Given the description of an element on the screen output the (x, y) to click on. 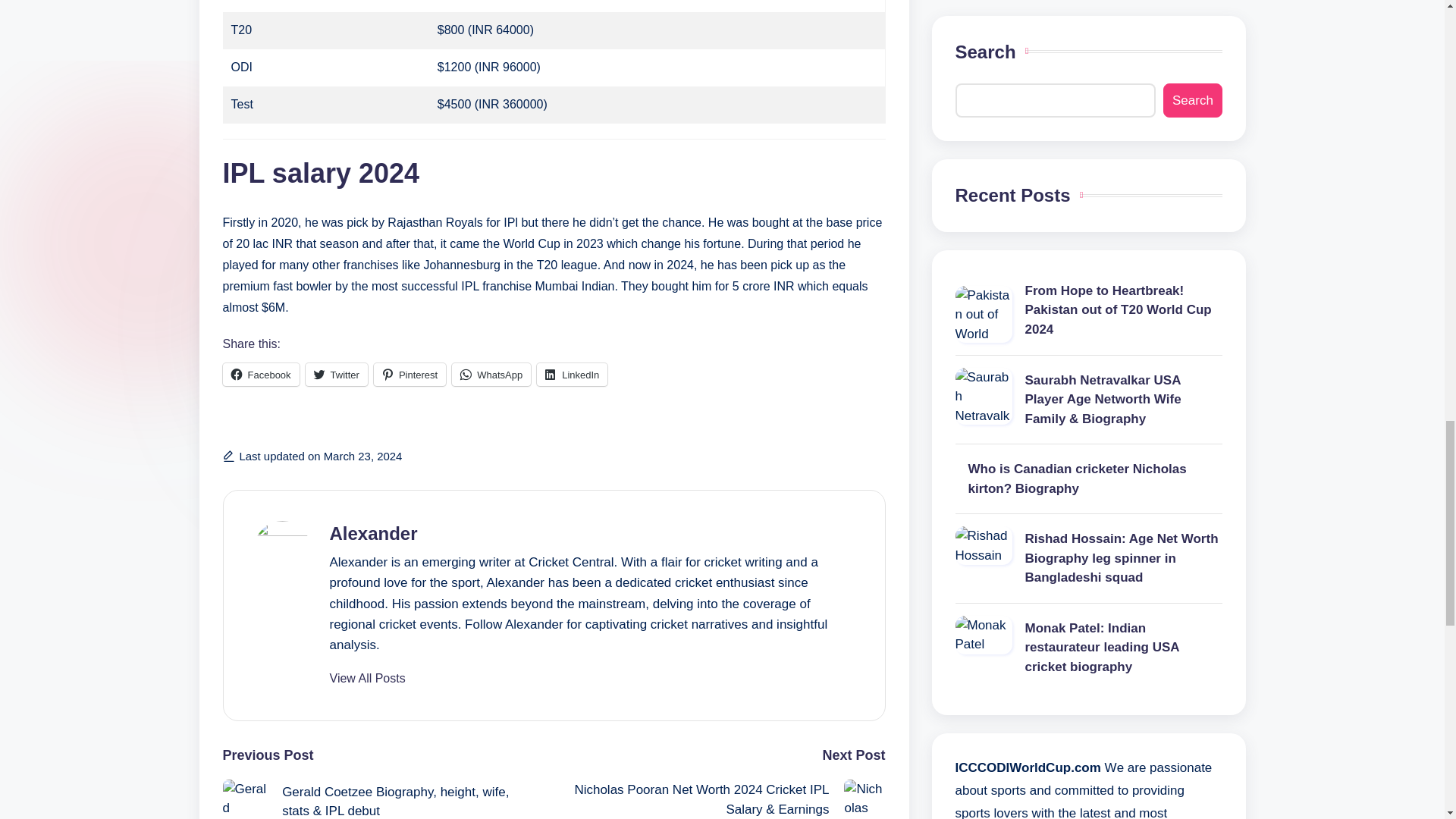
Click to share on LinkedIn (572, 374)
Click to share on Twitter (336, 374)
Click to share on Facebook (260, 374)
Click to share on WhatsApp (491, 374)
Click to share on Pinterest (409, 374)
